Given the description of an element on the screen output the (x, y) to click on. 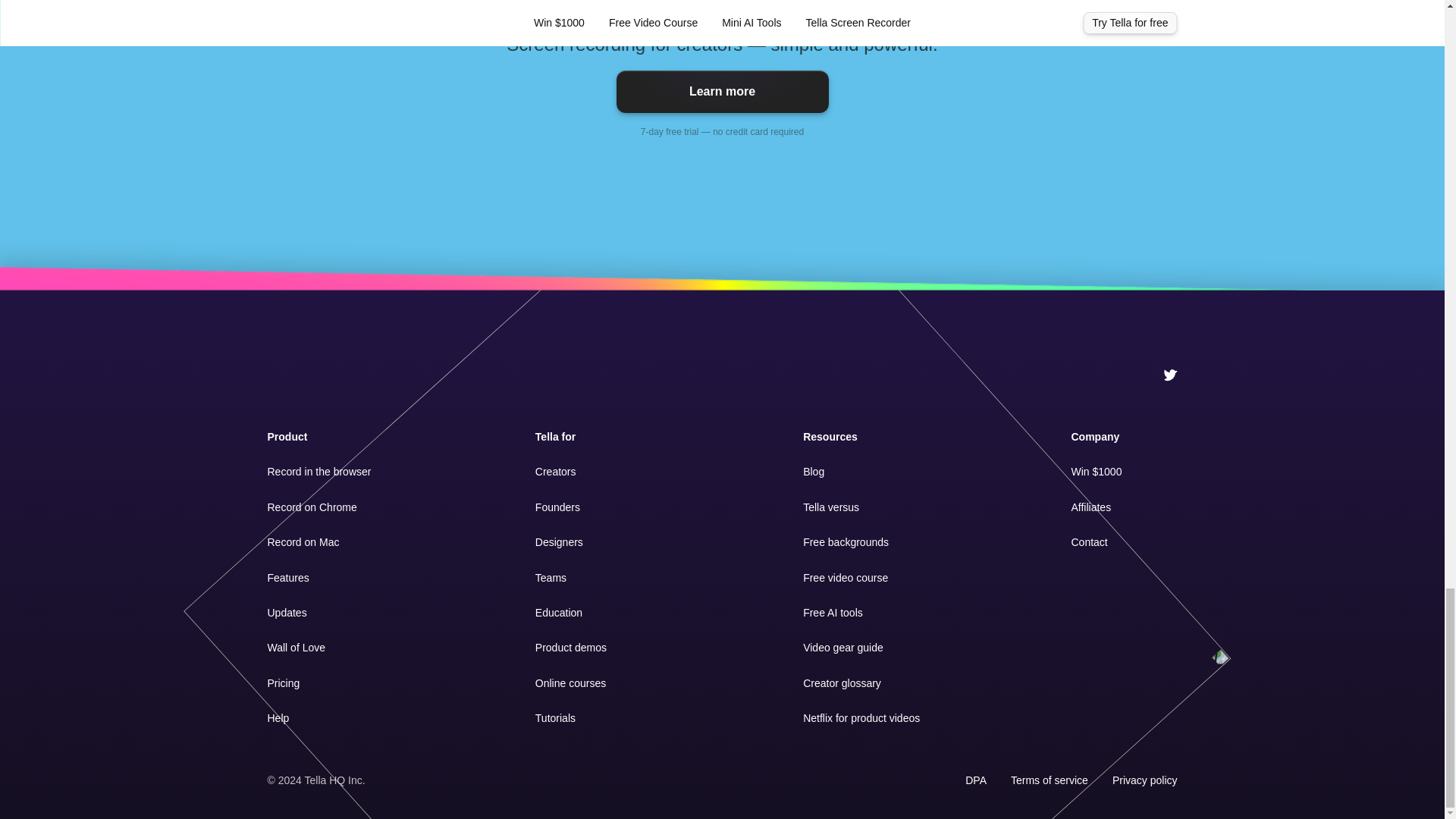
Help (277, 717)
Tutorials (555, 717)
Record on Mac (302, 541)
Tella for (555, 436)
Resources (830, 436)
Pricing (282, 683)
Features (287, 577)
Learn more (721, 91)
Record in the browser (318, 471)
Founders (557, 507)
Teams (550, 577)
Education (558, 612)
Creators (555, 471)
Product demos (571, 647)
Online courses (570, 683)
